Given the description of an element on the screen output the (x, y) to click on. 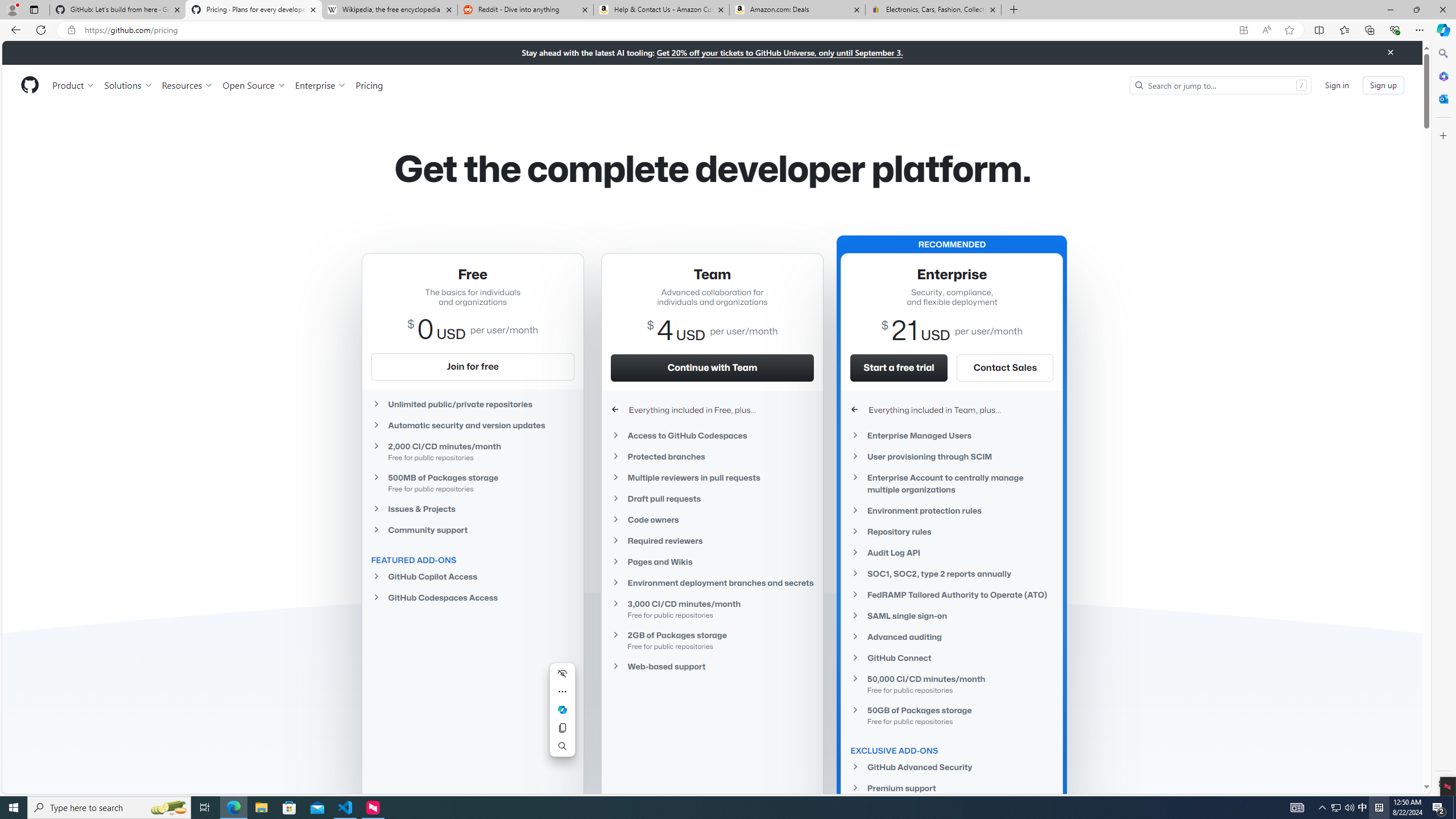
3,000 CI/CD minutes/monthFree for public repositories (711, 608)
App available. Install GitHub (1243, 29)
Amazon.com: Deals (797, 9)
Draft pull requests (711, 498)
500MB of Packages storageFree for public repositories (473, 482)
Web-based support (711, 666)
Protected branches (711, 456)
Required reviewers (711, 540)
Unlimited public/private repositories (473, 404)
Enterprise (319, 84)
